Given the description of an element on the screen output the (x, y) to click on. 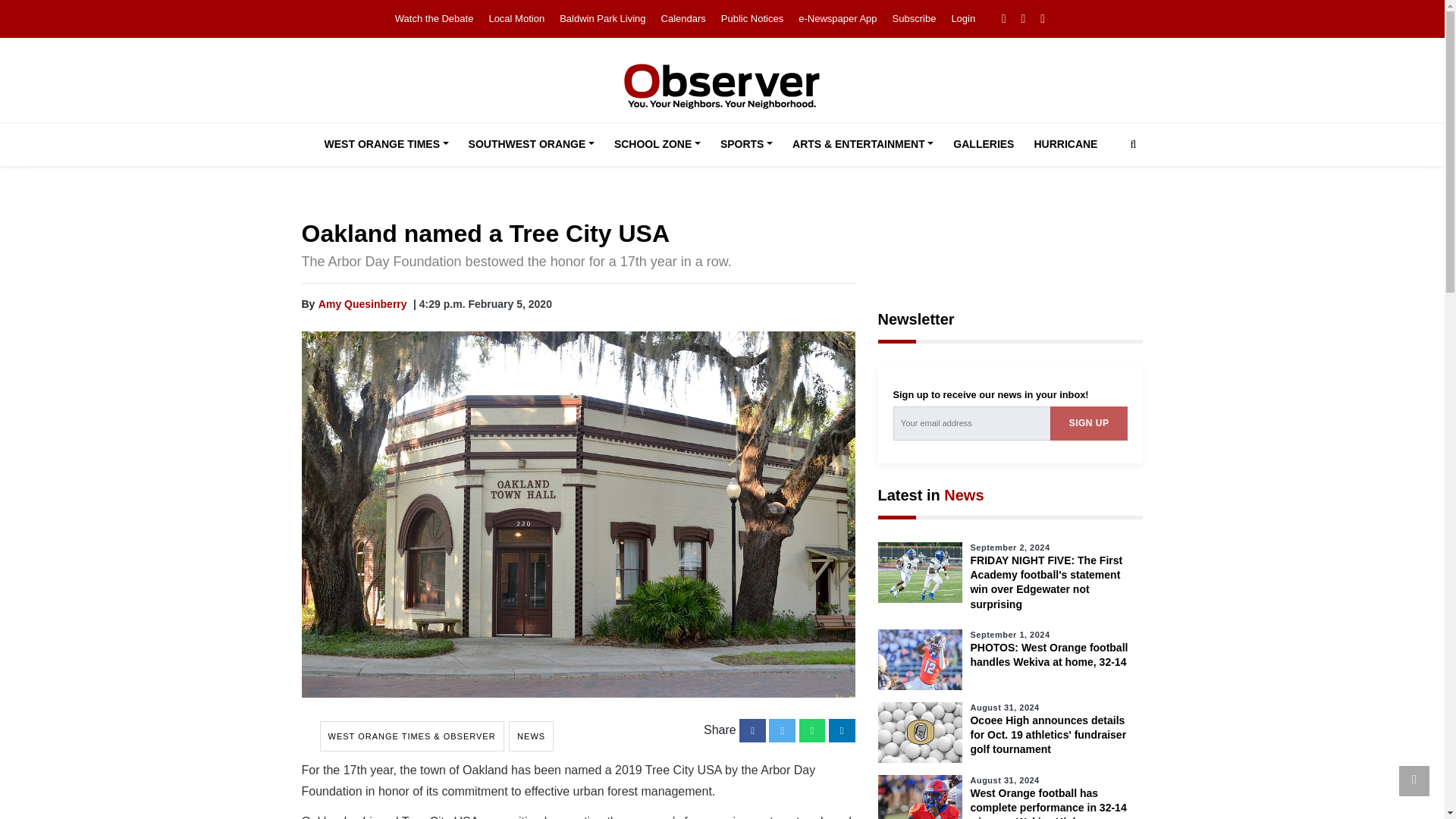
SCHOOL ZONE (657, 144)
SOUTHWEST ORANGE (531, 144)
WEST ORANGE TIMES (387, 144)
Local Motion (515, 18)
Login (962, 18)
Subscribe (914, 18)
e-Newspaper App (836, 18)
Watch the Debate (434, 18)
Baldwin Park Living (602, 18)
Public Notices (751, 18)
